Given the description of an element on the screen output the (x, y) to click on. 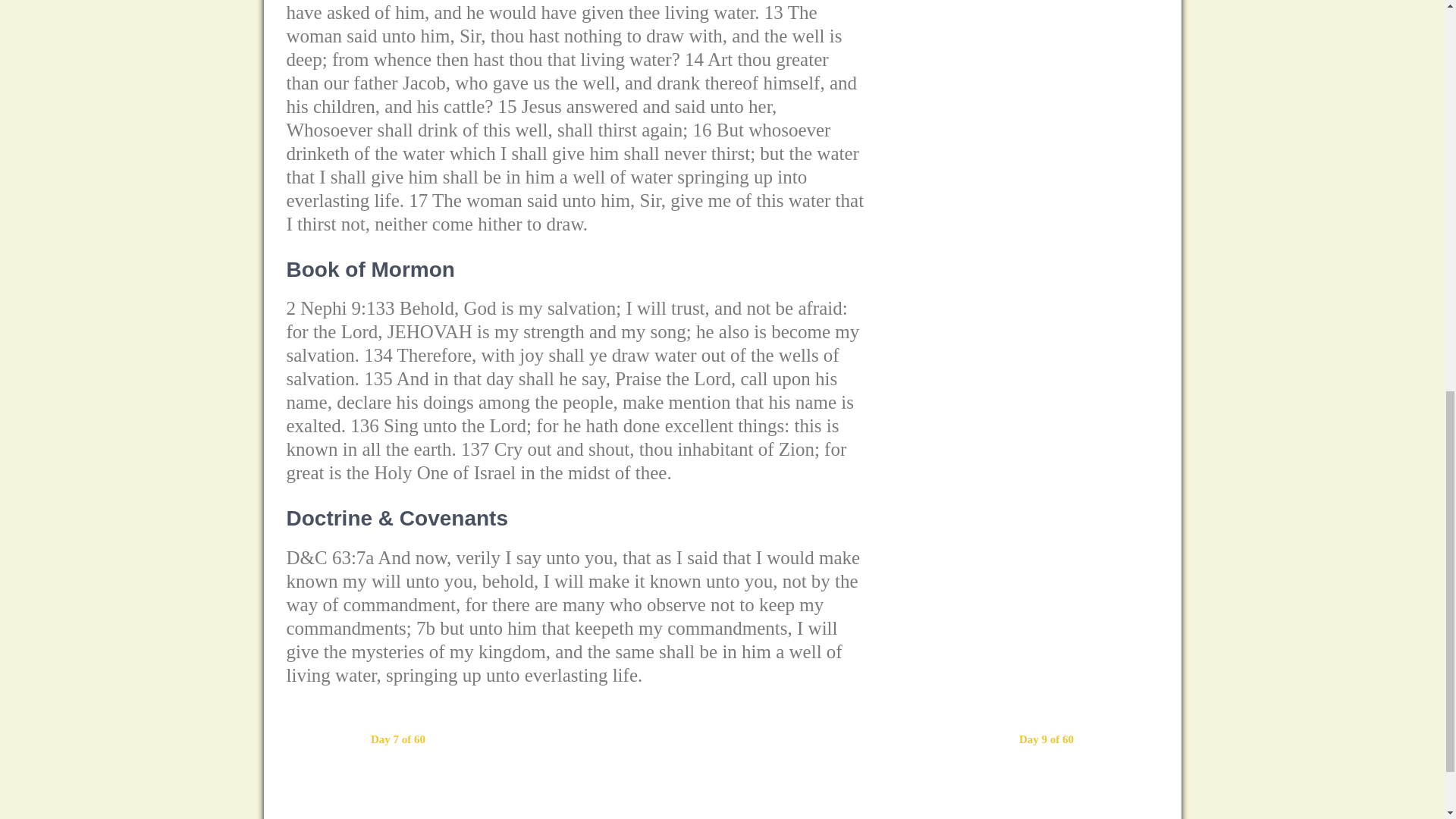
Day 9 of 60 (1046, 739)
Day 7 of 60 (398, 739)
